Given the description of an element on the screen output the (x, y) to click on. 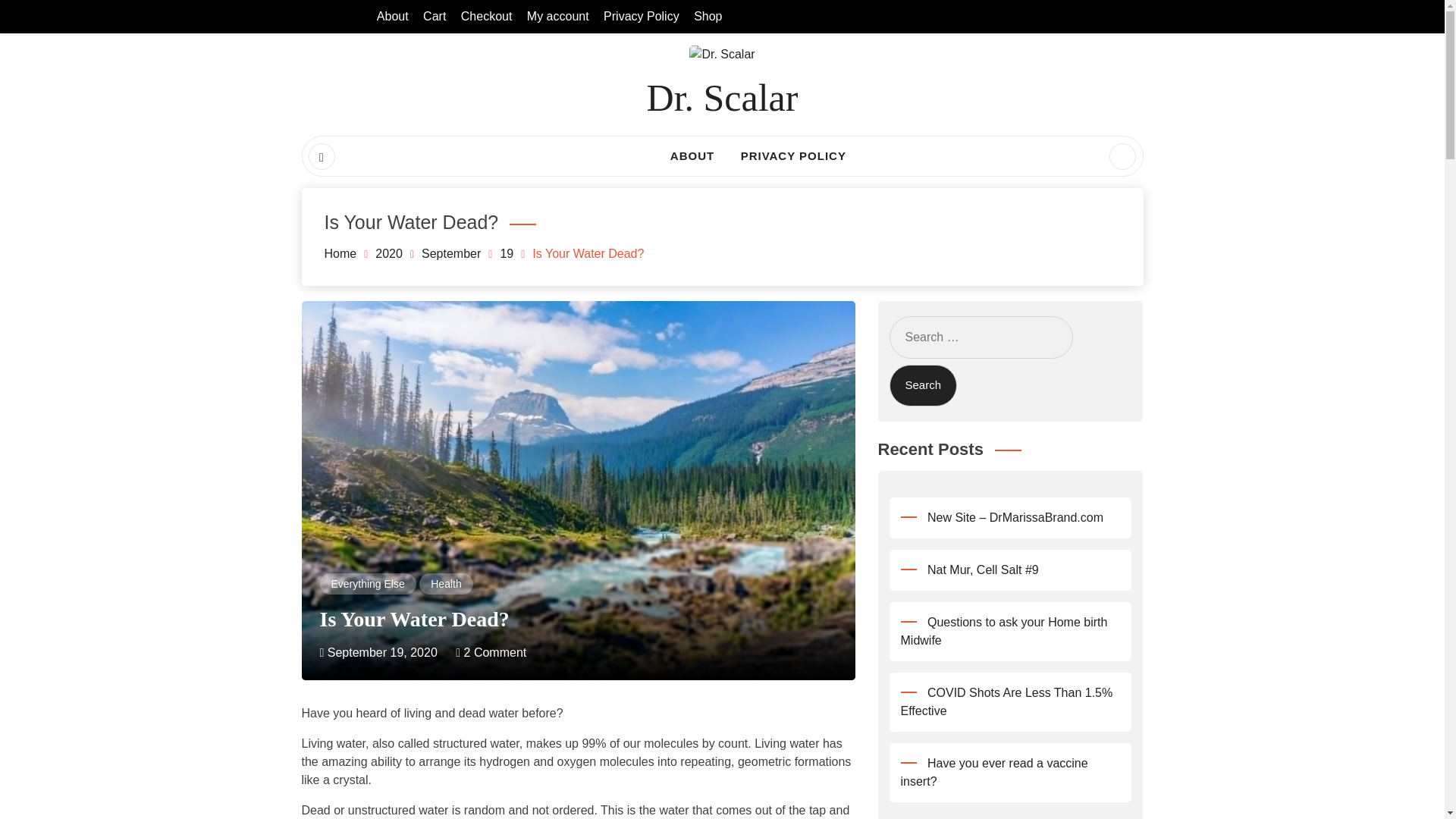
Search (922, 385)
September (451, 253)
My account (558, 15)
2020 (389, 253)
Privacy Policy (641, 15)
Everything Else (367, 583)
Cart (434, 15)
ABOUT (692, 156)
Dr. Scalar (721, 97)
Home (340, 253)
